Given the description of an element on the screen output the (x, y) to click on. 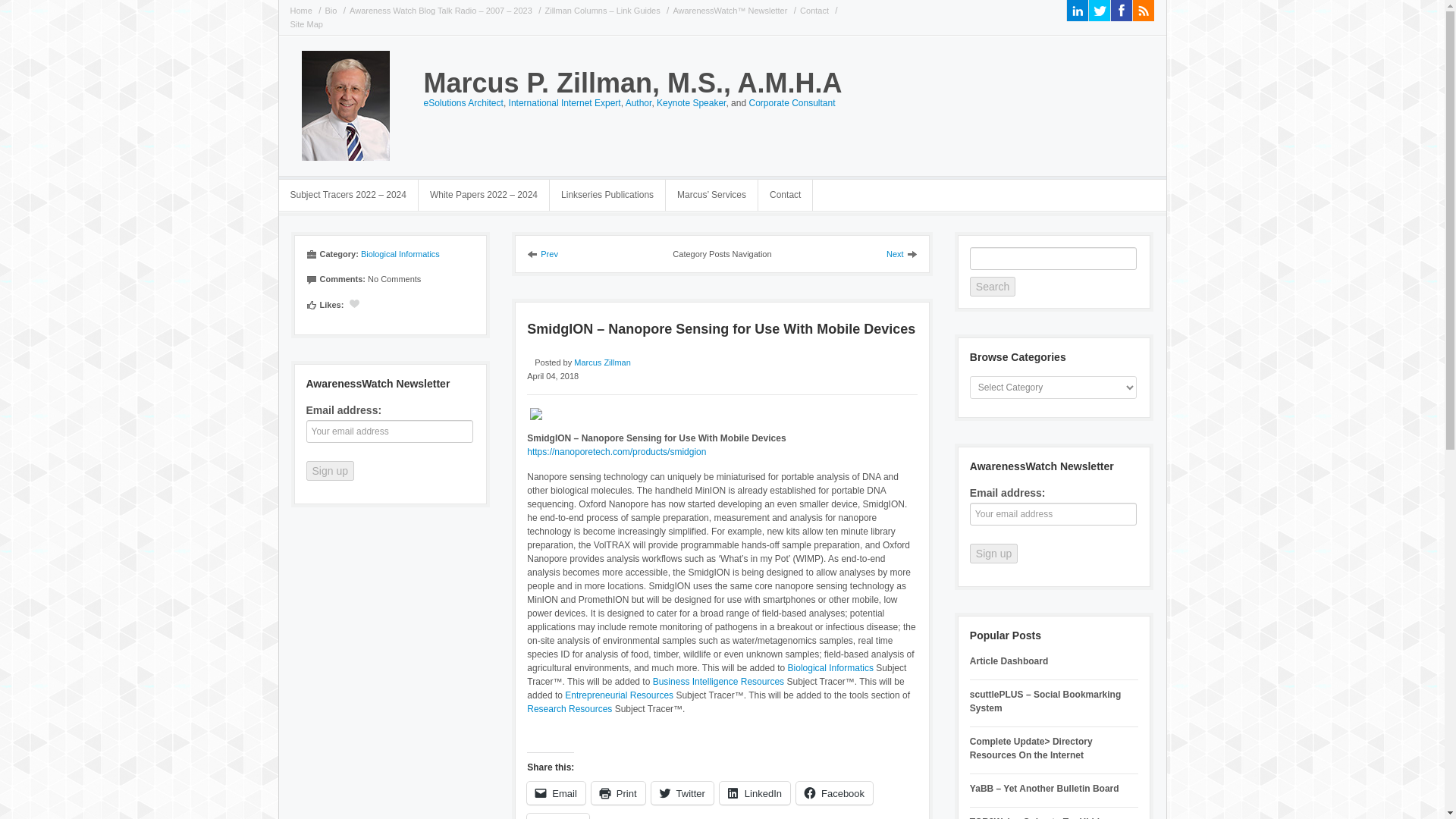
Corporate Consultant (791, 102)
Next Post (901, 254)
Keynote Speaker (690, 102)
Click to print (618, 793)
Marcus P. Zillman Internet Keynote Speaker (690, 102)
eSolutions Architect (462, 102)
Author (639, 102)
Sign up (329, 470)
Home (302, 10)
I like this article (354, 302)
